Given the description of an element on the screen output the (x, y) to click on. 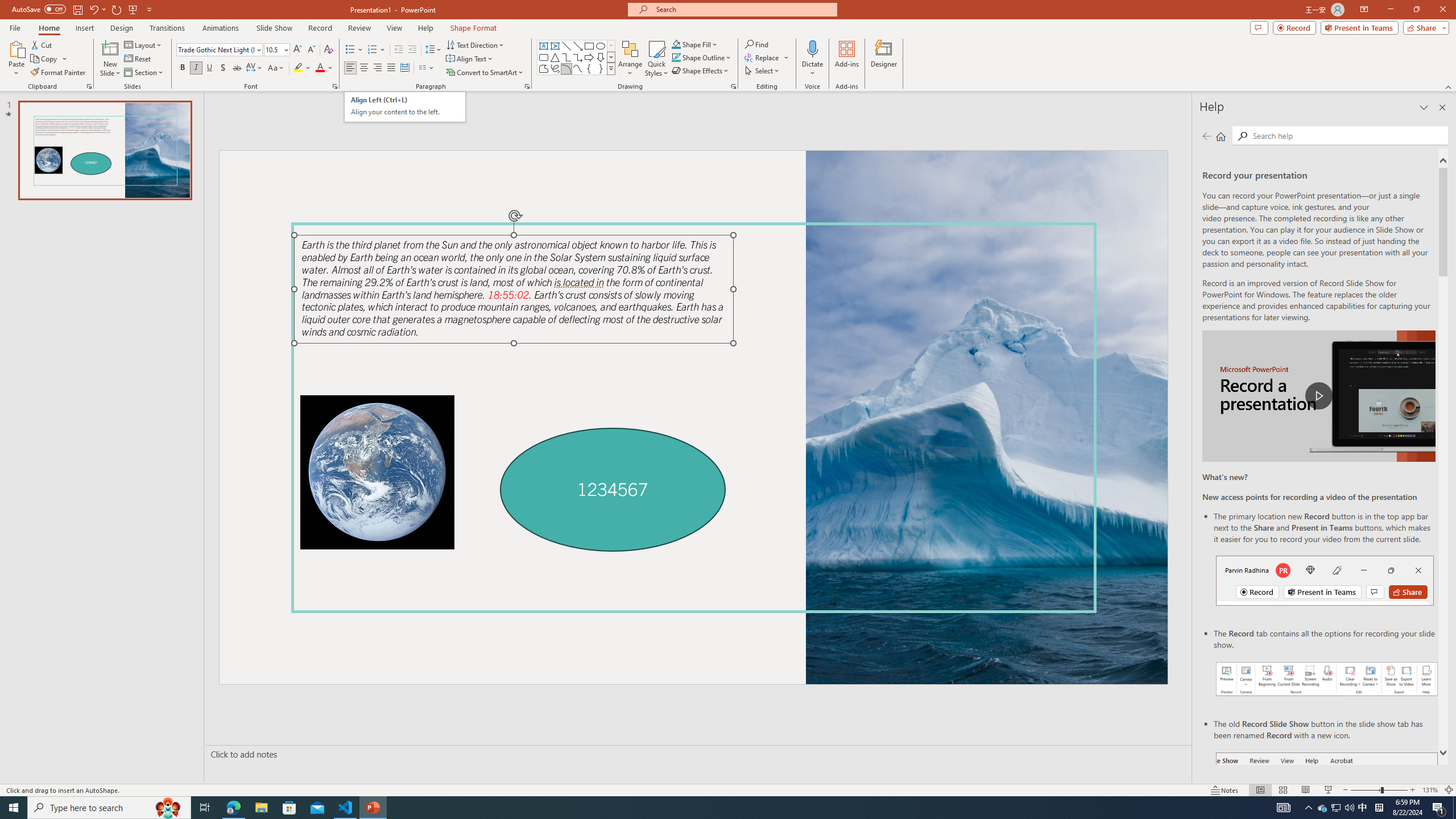
Record your presentations screenshot one (1326, 678)
Zoom 131% (1430, 790)
